Given the description of an element on the screen output the (x, y) to click on. 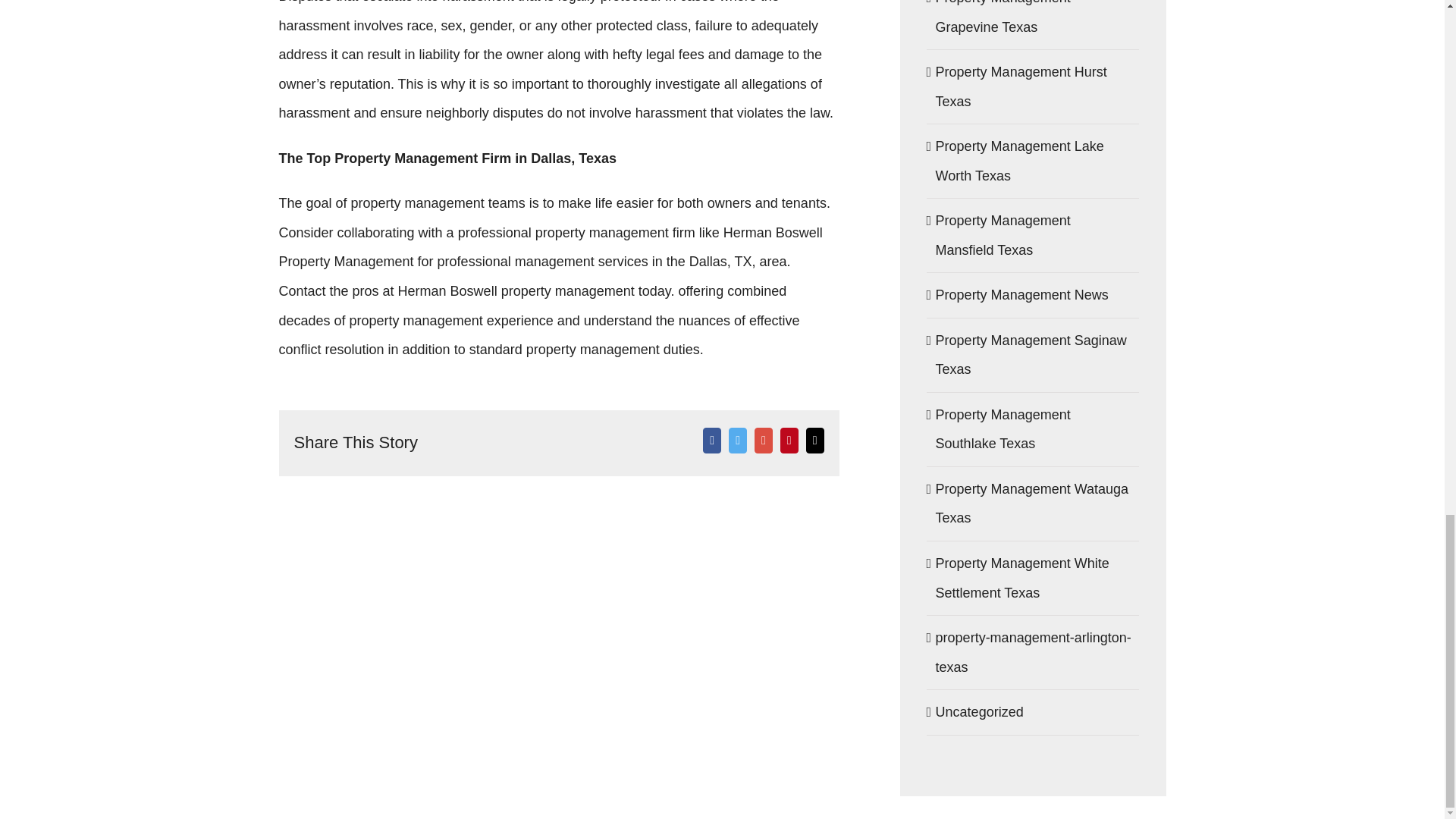
Property Management Lake Worth Texas (1034, 160)
Property Management Grapevine Texas (1034, 20)
Property Management Hurst Texas (1034, 86)
